Given the description of an element on the screen output the (x, y) to click on. 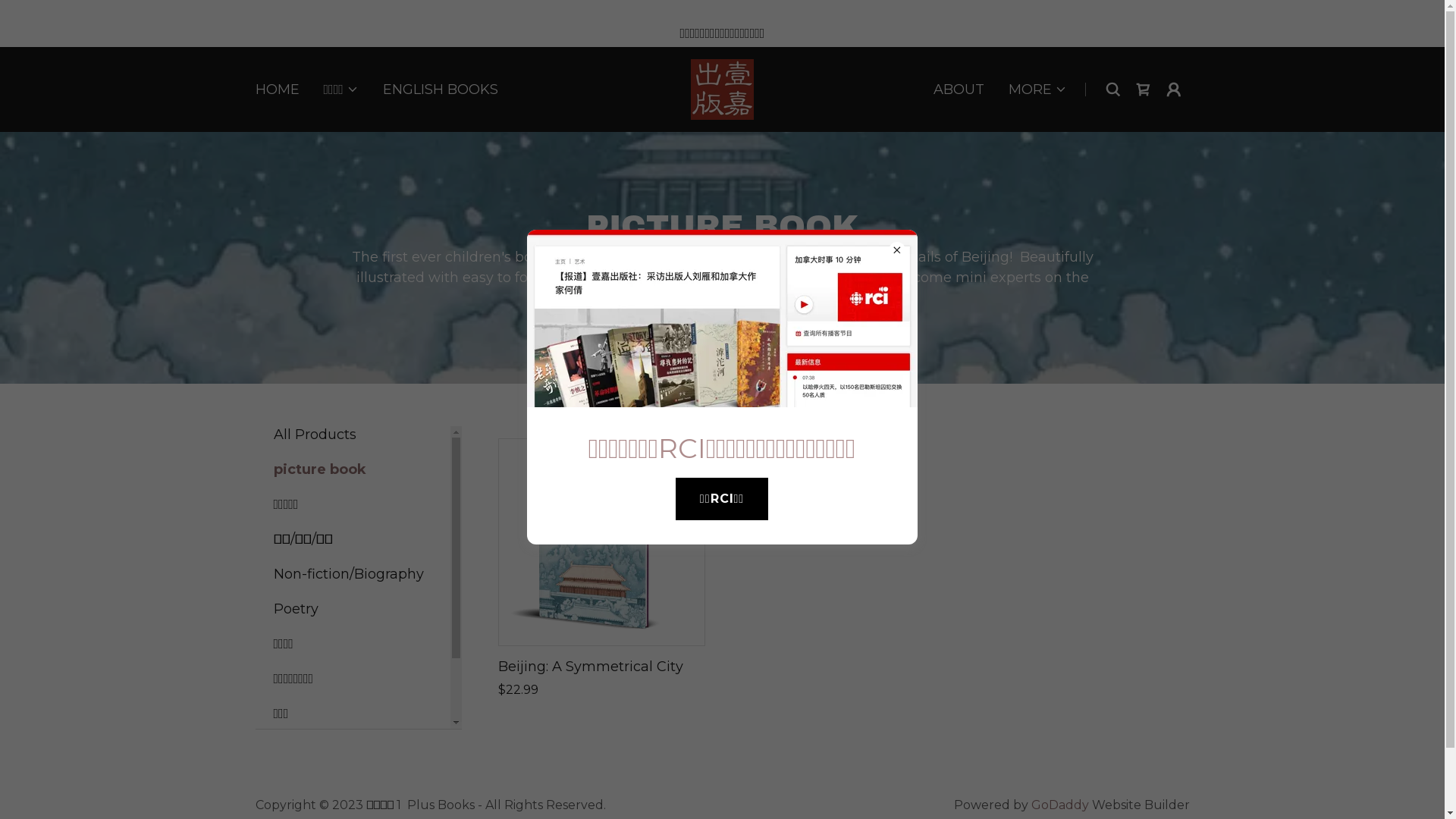
All Products Element type: text (352, 434)
HOME Element type: text (276, 89)
Chinese culture Element type: text (352, 783)
ABOUT Element type: text (958, 89)
GoDaddy Element type: text (1059, 804)
Poetry Element type: text (352, 608)
ENGLISH BOOKS Element type: text (440, 89)
Beijing: A Symmetrical City
$22.99 Element type: text (600, 568)
Literary theory Element type: text (352, 748)
Non-fiction/Biography Element type: text (352, 573)
picture book Element type: text (352, 469)
MORE Element type: text (1037, 89)
